Given the description of an element on the screen output the (x, y) to click on. 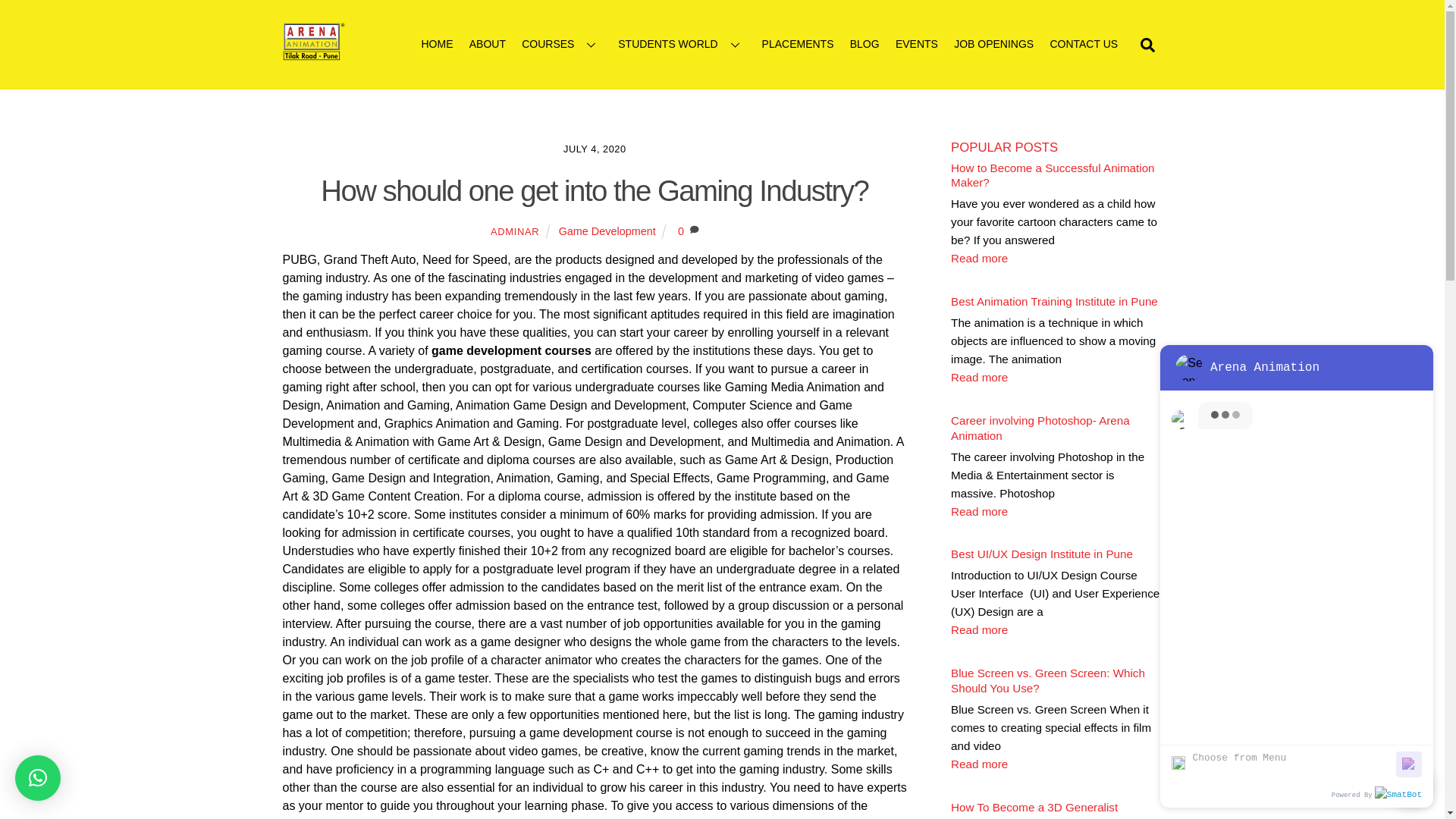
Menu (1380, 367)
Search (1146, 43)
HOME (437, 43)
CONTACT US (1083, 43)
STUDENTS WORLD (681, 43)
COURSES (561, 43)
BLOG (864, 43)
EVENTS (915, 43)
PLACEMENTS (797, 43)
Arena Animation (312, 53)
ABOUT (487, 43)
ADMINAR (514, 231)
Powered by SmatBot (1398, 793)
Game Development (607, 231)
